Given the description of an element on the screen output the (x, y) to click on. 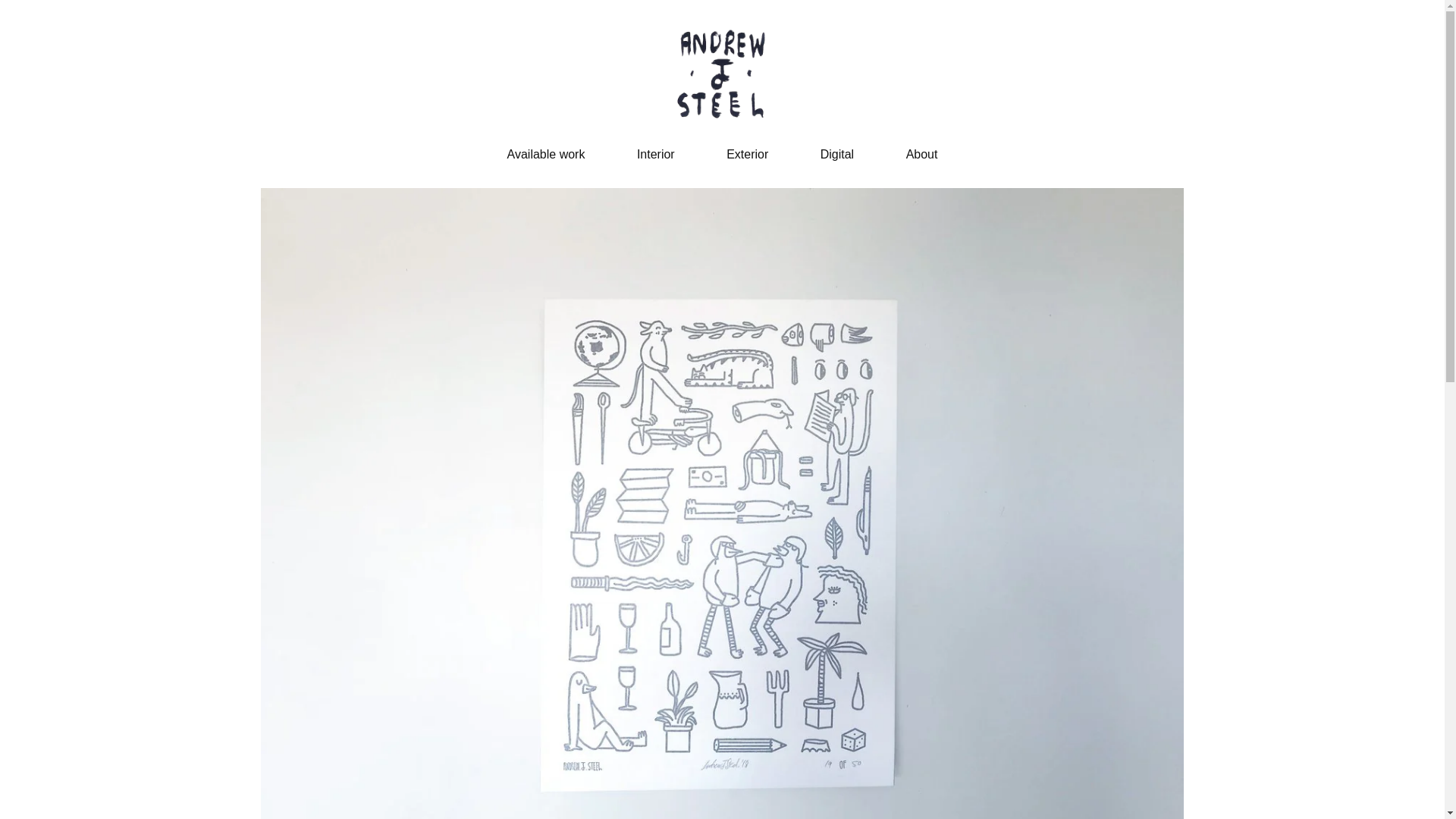
Digital (837, 154)
Available work (545, 154)
Interior (656, 154)
Andrew J Steel (721, 72)
About (921, 154)
Exterior (747, 154)
